Given the description of an element on the screen output the (x, y) to click on. 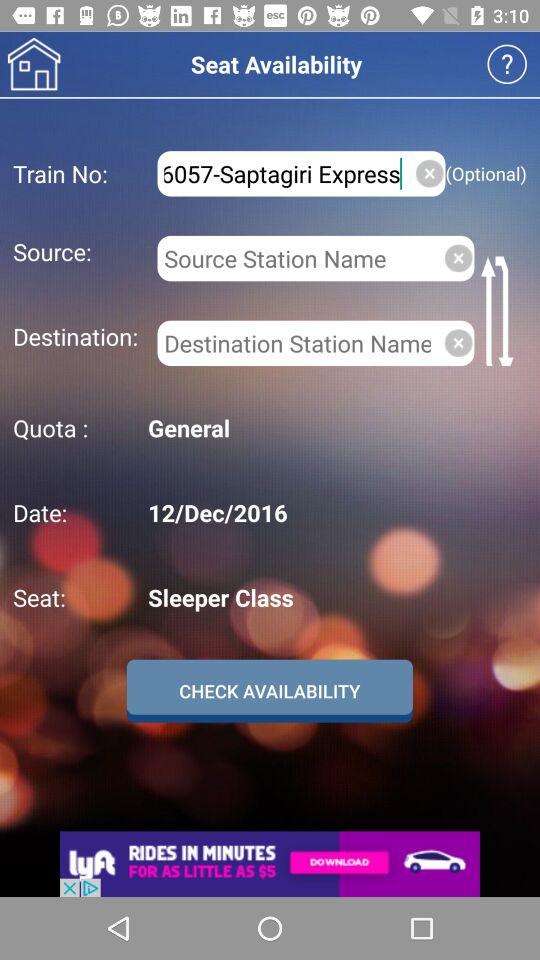
home image indian railway (33, 63)
